Given the description of an element on the screen output the (x, y) to click on. 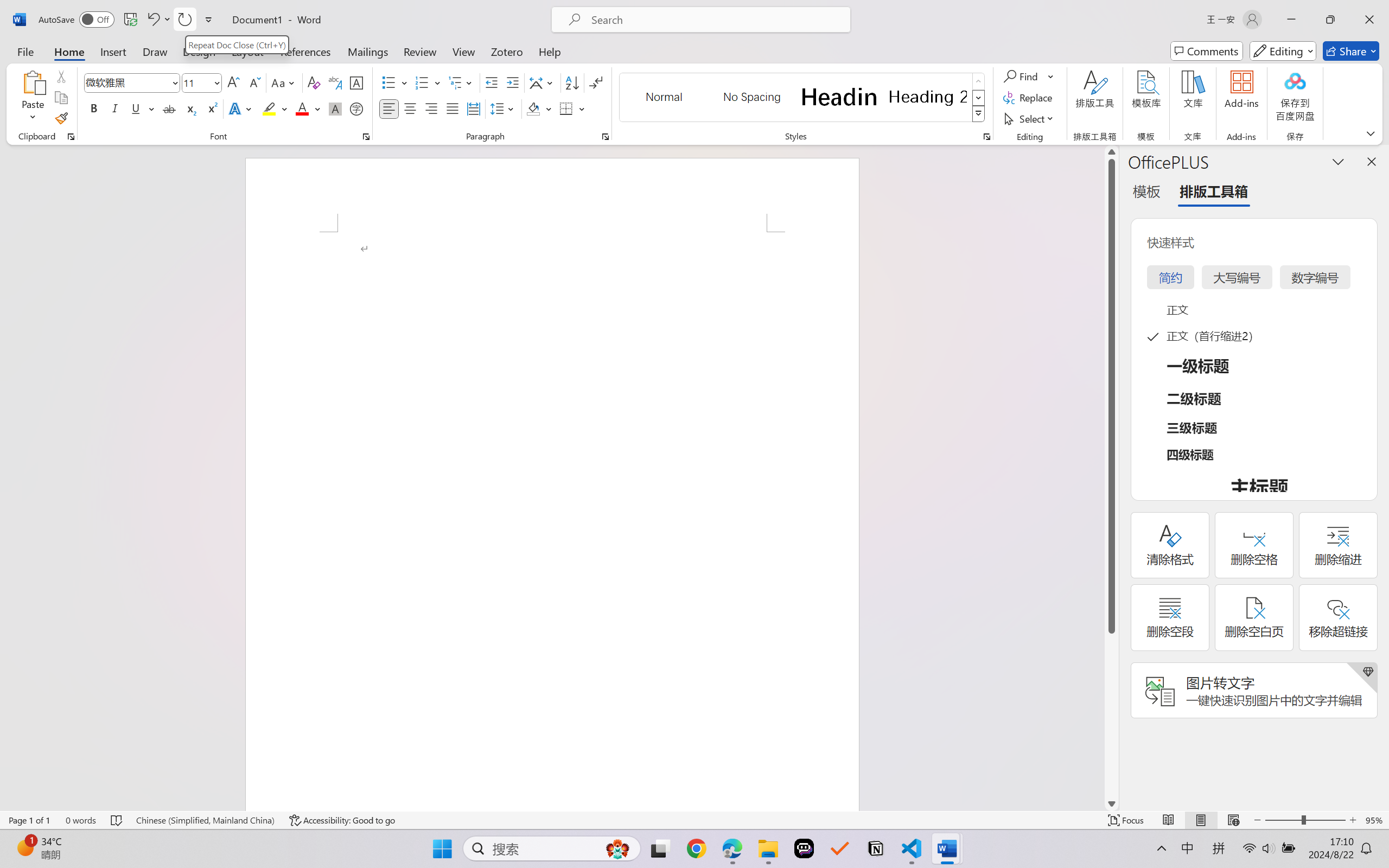
Page 1 content (552, 521)
